Given the description of an element on the screen output the (x, y) to click on. 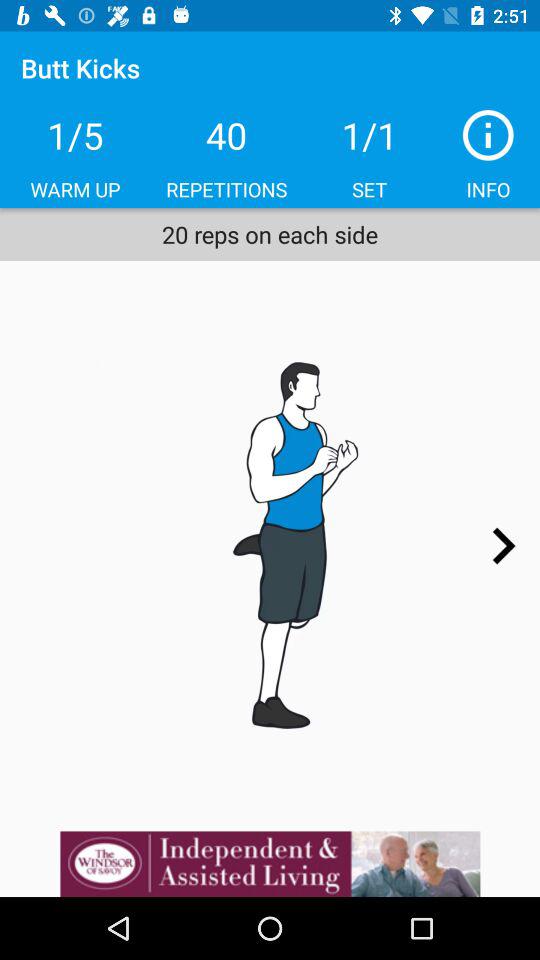
i (487, 135)
